Given the description of an element on the screen output the (x, y) to click on. 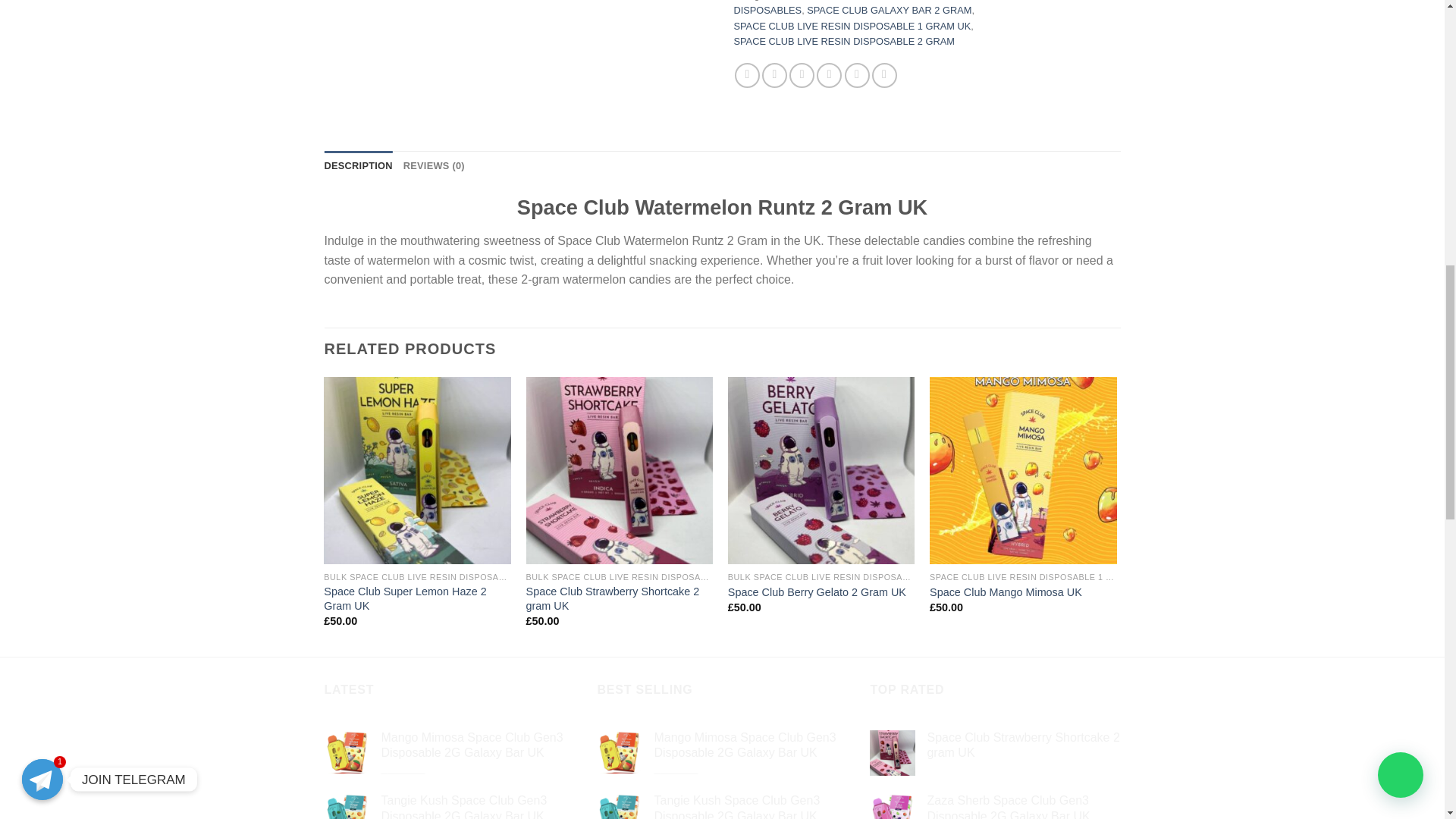
SPACE CLUB LIVE RESIN DISPOSABLE 1 GRAM UK (852, 25)
SPACE CLUB LIVE RESIN DISPOSABLE 2 GRAM (844, 41)
DESCRIPTION (358, 165)
BULK SPACE CLUB LIVE RESIN DISPOSABLES (832, 7)
SPACE CLUB GALAXY BAR 2 GRAM (888, 9)
